Given the description of an element on the screen output the (x, y) to click on. 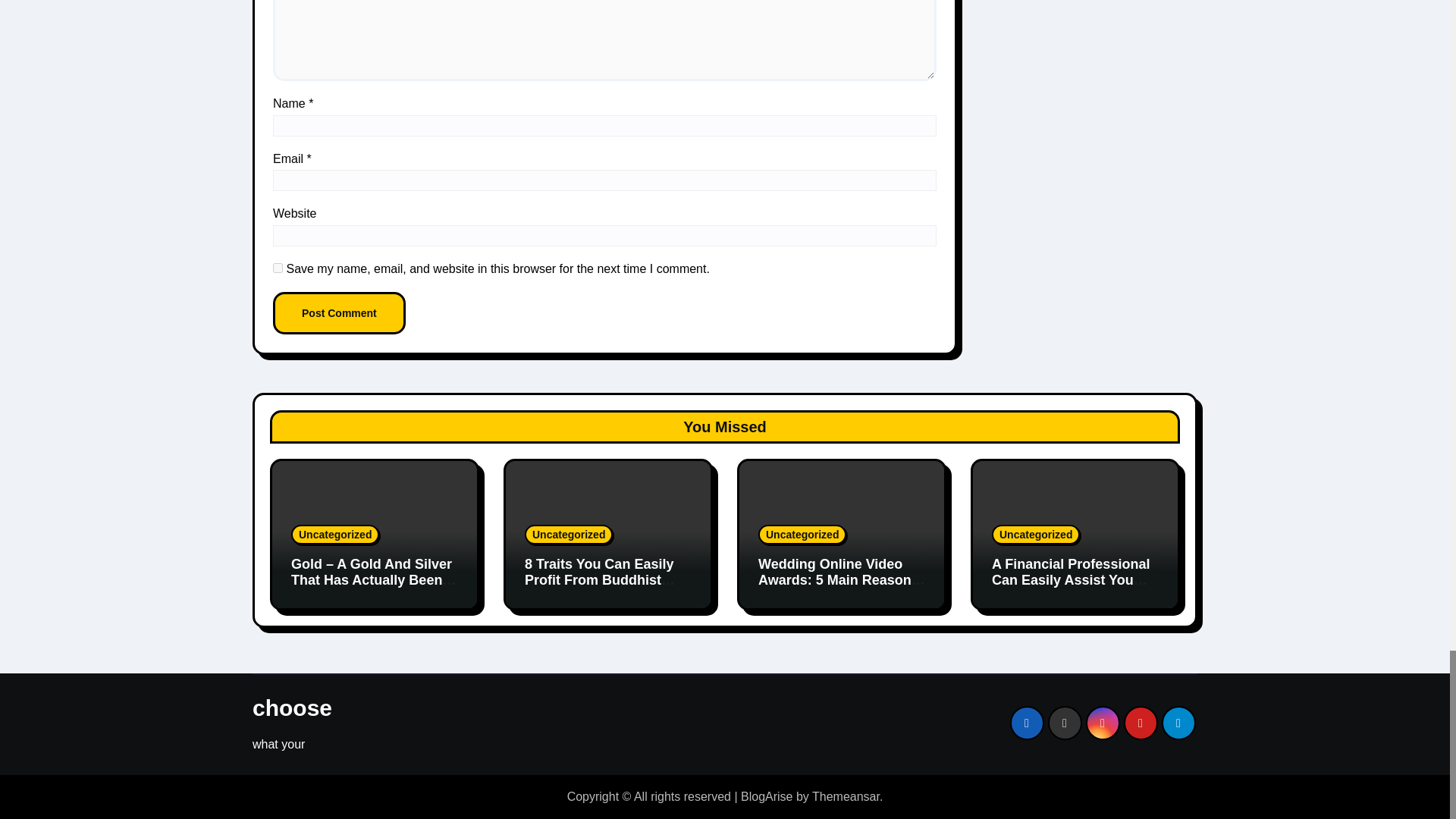
yes (277, 267)
Post Comment (339, 312)
